Given the description of an element on the screen output the (x, y) to click on. 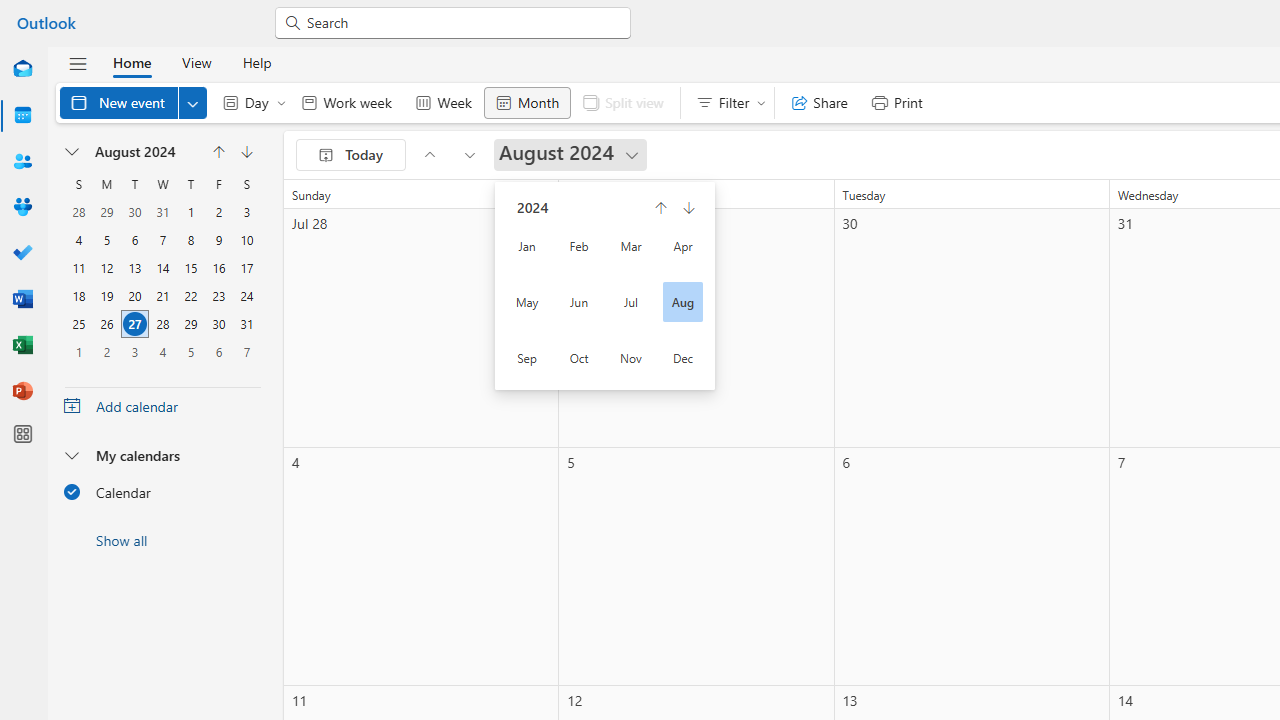
22, August, 2024 (191, 295)
29, July, 2024 (107, 212)
8, August, 2024 (191, 239)
11, August, 2024 (79, 268)
30, July, 2024 (134, 212)
Go to next month September (246, 152)
28, July, 2024 (79, 212)
11, August, 2024 (78, 268)
5, August, 2024 (107, 240)
29, August, 2024 (190, 323)
Excel (22, 345)
Class: weekRow-292 (163, 351)
Filter (726, 102)
Go to next month September 2024 (470, 154)
People (22, 161)
